Given the description of an element on the screen output the (x, y) to click on. 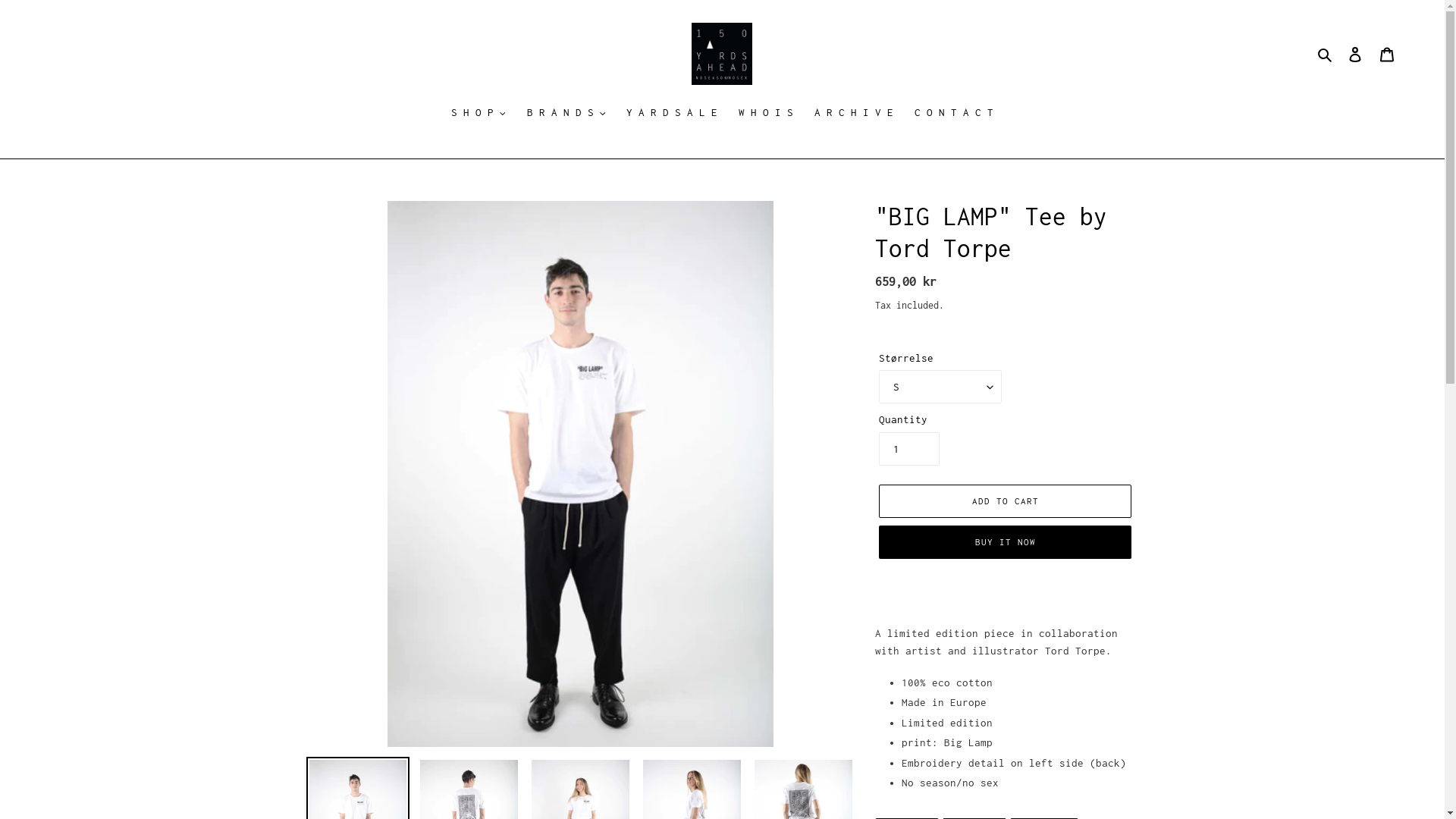
Search Element type: text (1325, 53)
S H O P Element type: text (478, 113)
B R A N D S Element type: text (565, 113)
Cart Element type: text (1386, 53)
Log in Element type: text (1355, 53)
ADD TO CART Element type: text (1004, 500)
W H O I S Element type: text (765, 113)
A R C H I V E Element type: text (853, 113)
Y A R D S A L E Element type: text (671, 113)
BUY IT NOW Element type: text (1004, 541)
C O N T A C T Element type: text (953, 113)
